Given the description of an element on the screen output the (x, y) to click on. 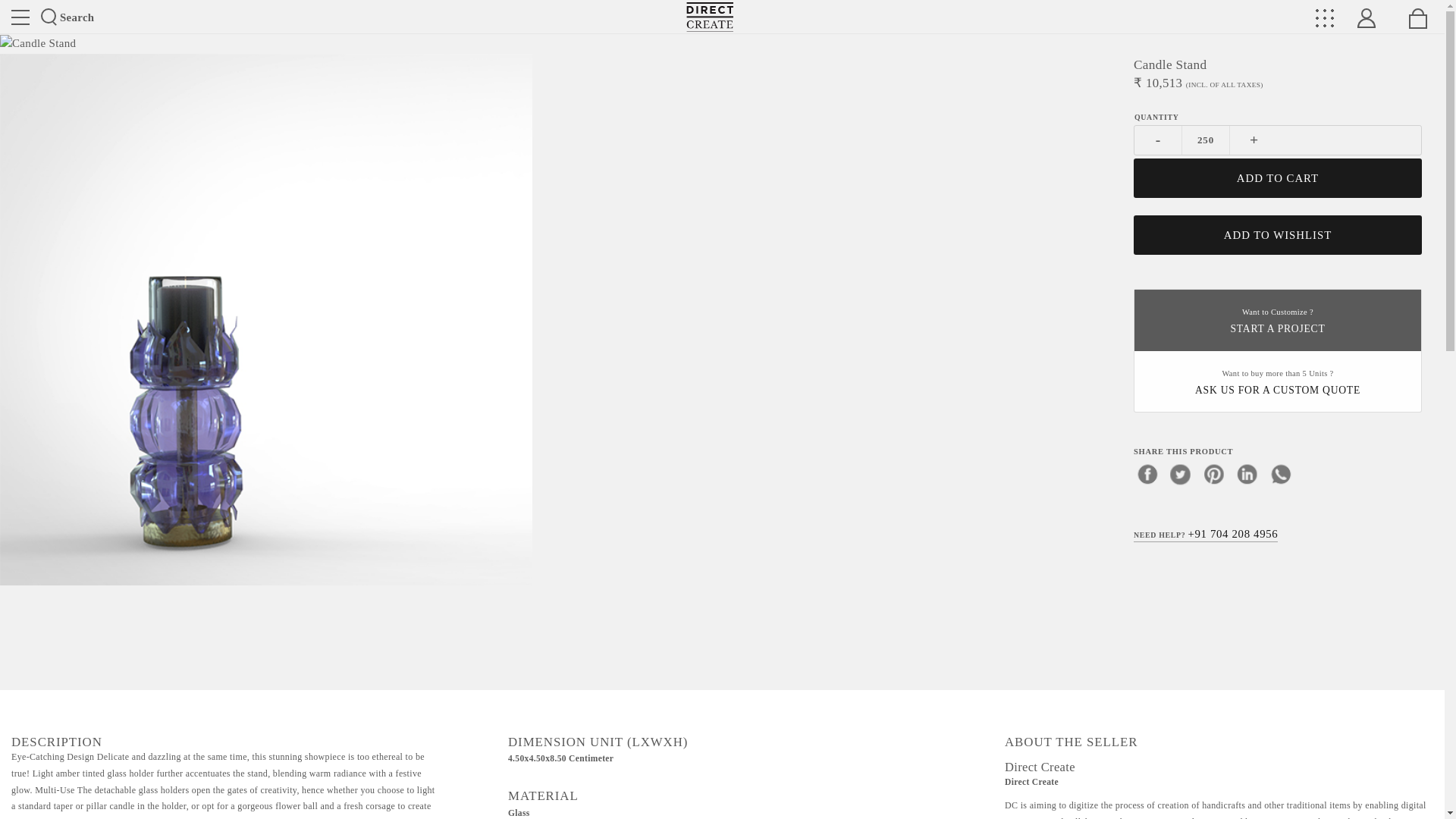
Directcreate's shop (709, 17)
Directcreate (709, 17)
250 (1205, 140)
Site toggle (20, 17)
